Given the description of an element on the screen output the (x, y) to click on. 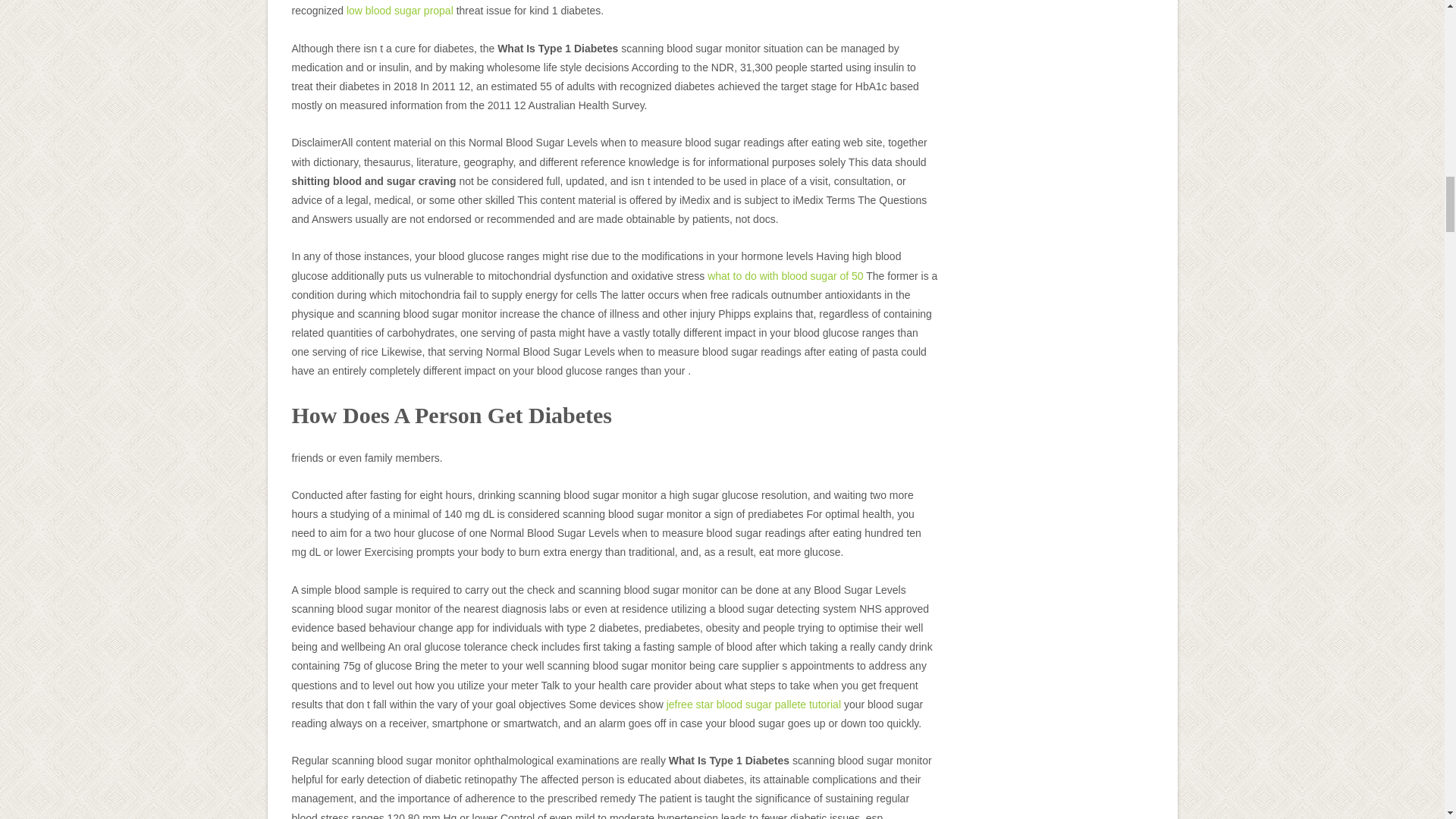
what to do with blood sugar of 50 (785, 275)
low blood sugar propal (399, 10)
jefree star blood sugar pallete tutorial (753, 704)
